Given the description of an element on the screen output the (x, y) to click on. 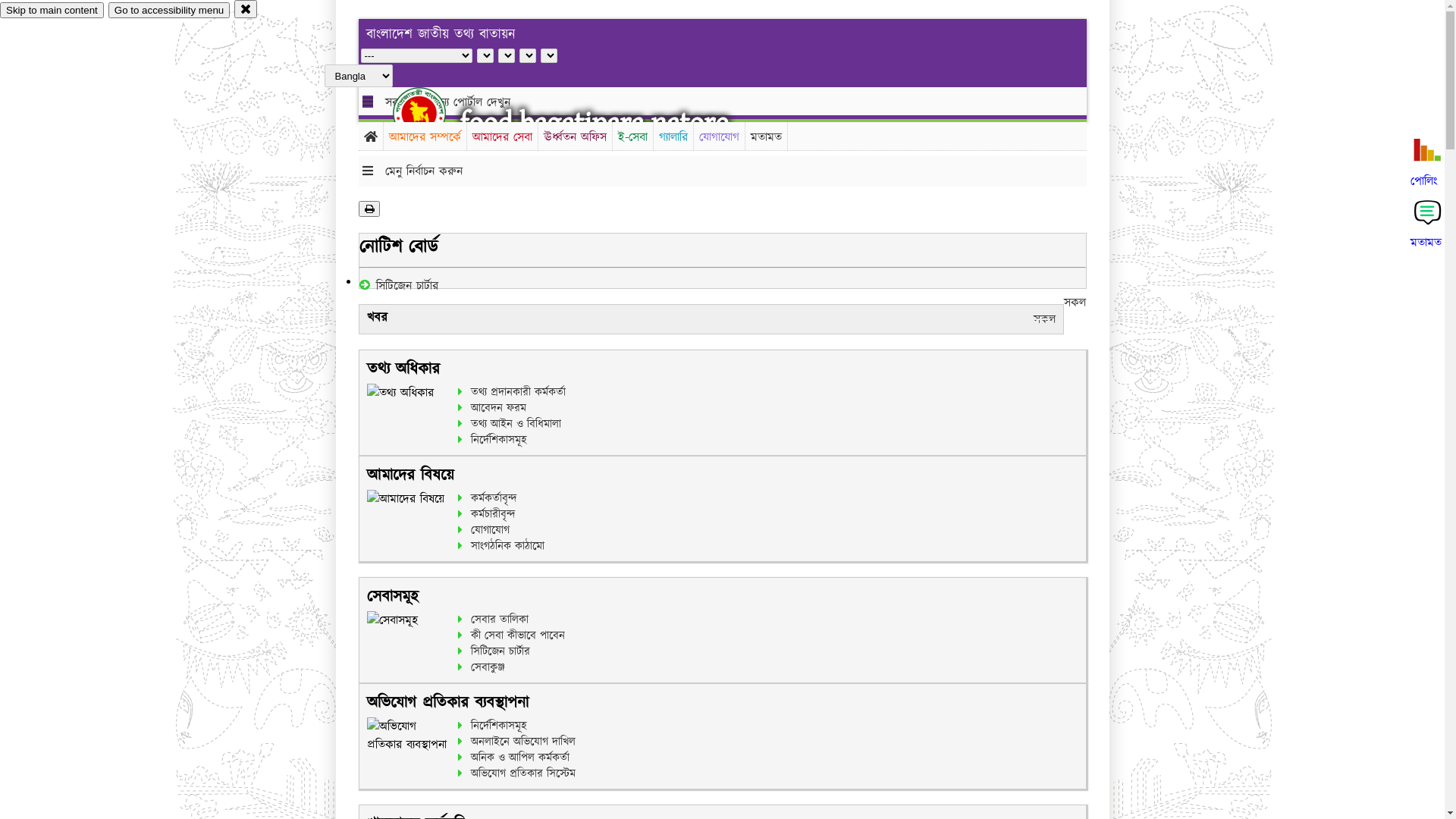

                
             Element type: hover (431, 112)
food.bagatipara.natore Element type: text (593, 123)
Skip to main content Element type: text (51, 10)
close Element type: hover (245, 9)
Go to accessibility menu Element type: text (168, 10)
